Given the description of an element on the screen output the (x, y) to click on. 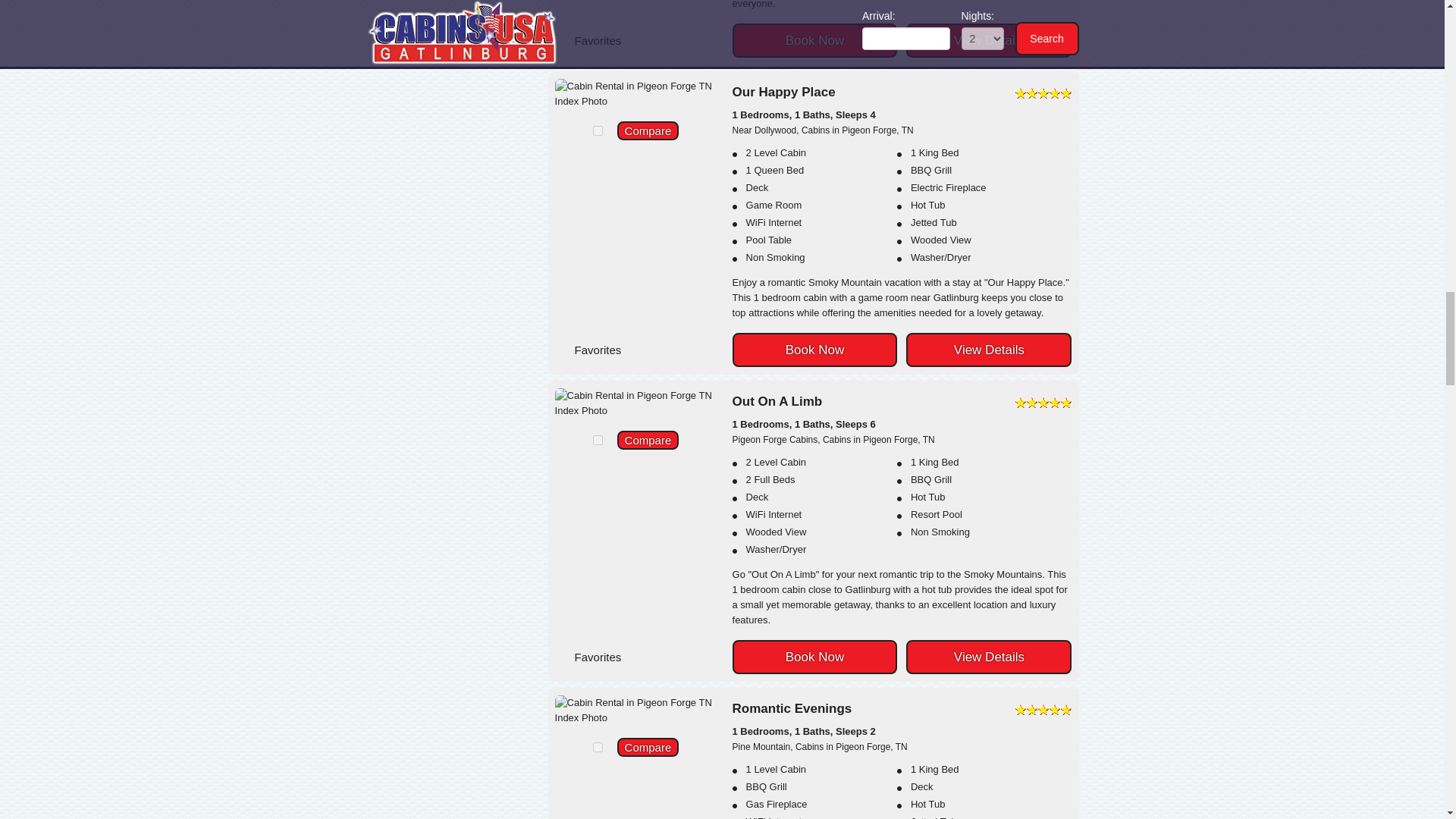
817 (597, 130)
Compare (648, 439)
719 (597, 747)
Compare (648, 130)
929 (597, 439)
Compare (648, 746)
